Given the description of an element on the screen output the (x, y) to click on. 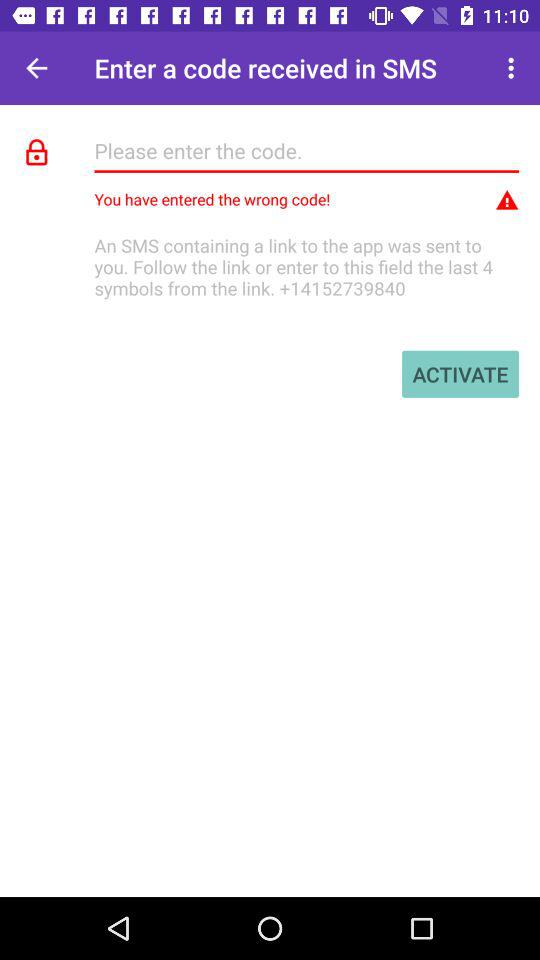
go to previous (36, 68)
